Given the description of an element on the screen output the (x, y) to click on. 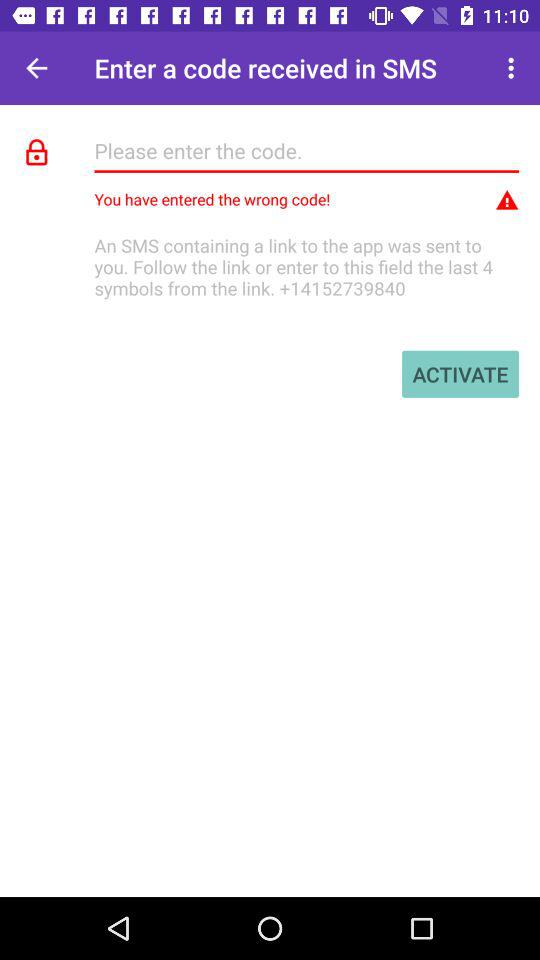
go to previous (36, 68)
